Given the description of an element on the screen output the (x, y) to click on. 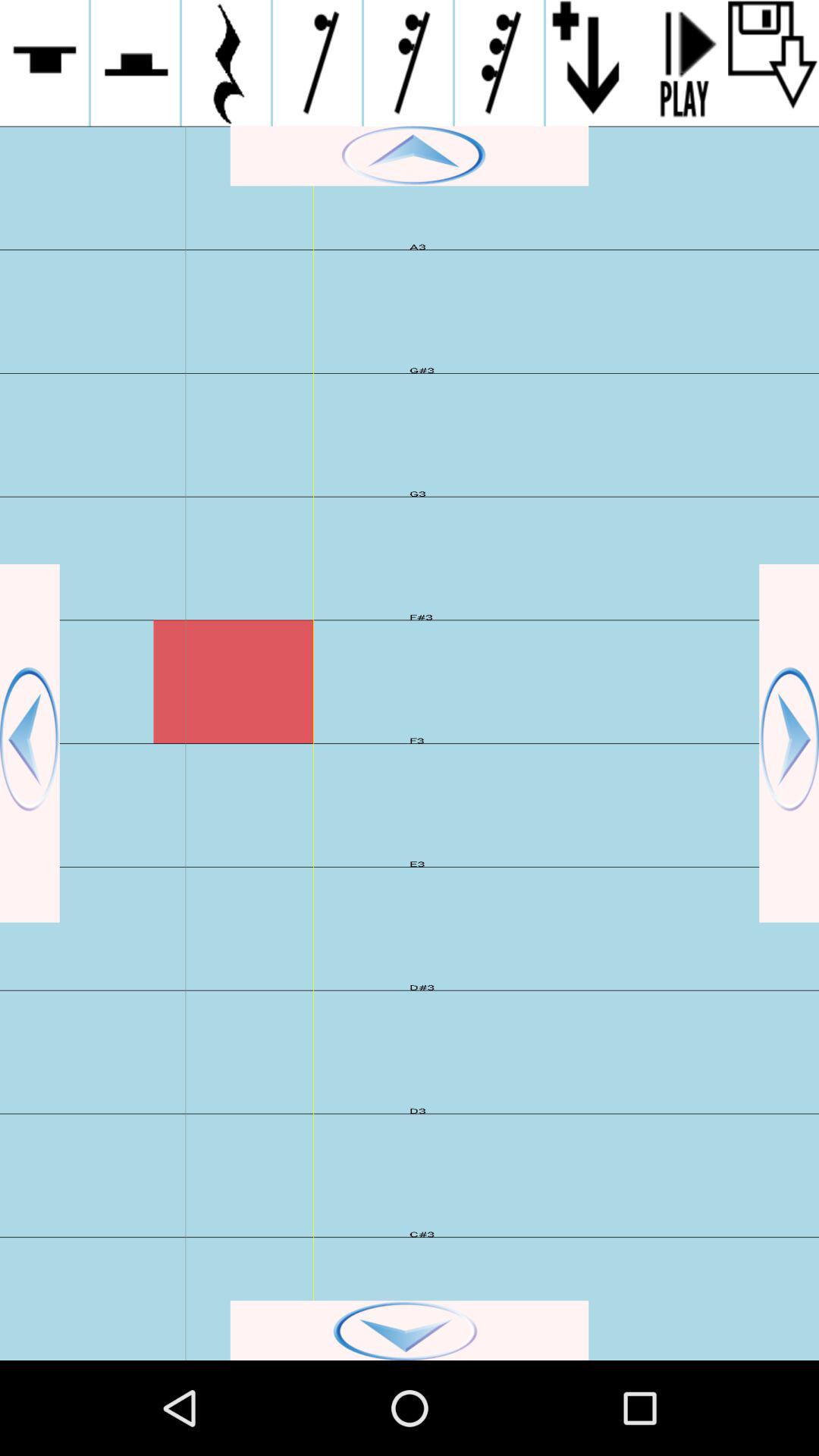
go back (789, 742)
